Given the description of an element on the screen output the (x, y) to click on. 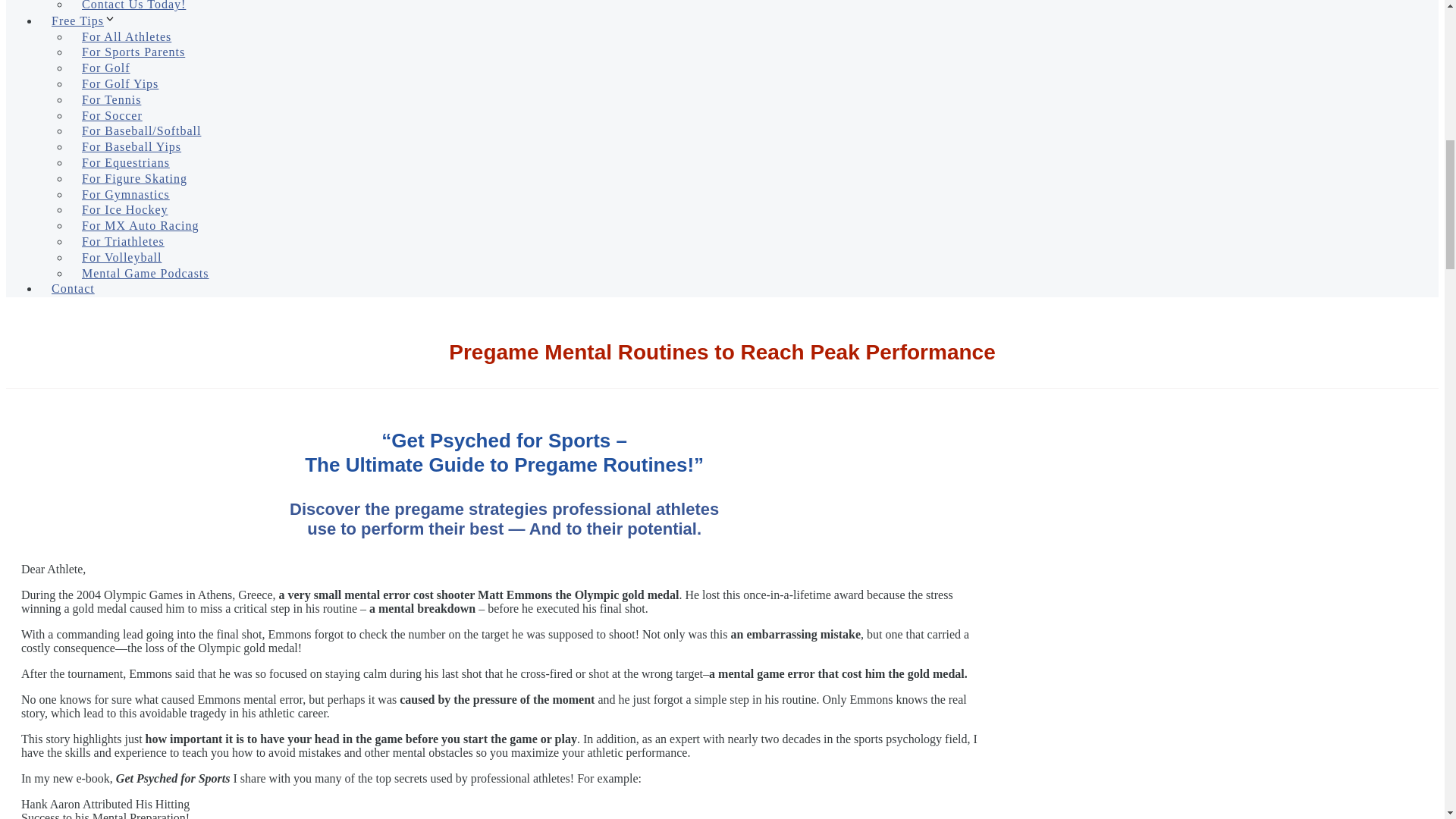
Scroll back to top (1406, 720)
